Given the description of an element on the screen output the (x, y) to click on. 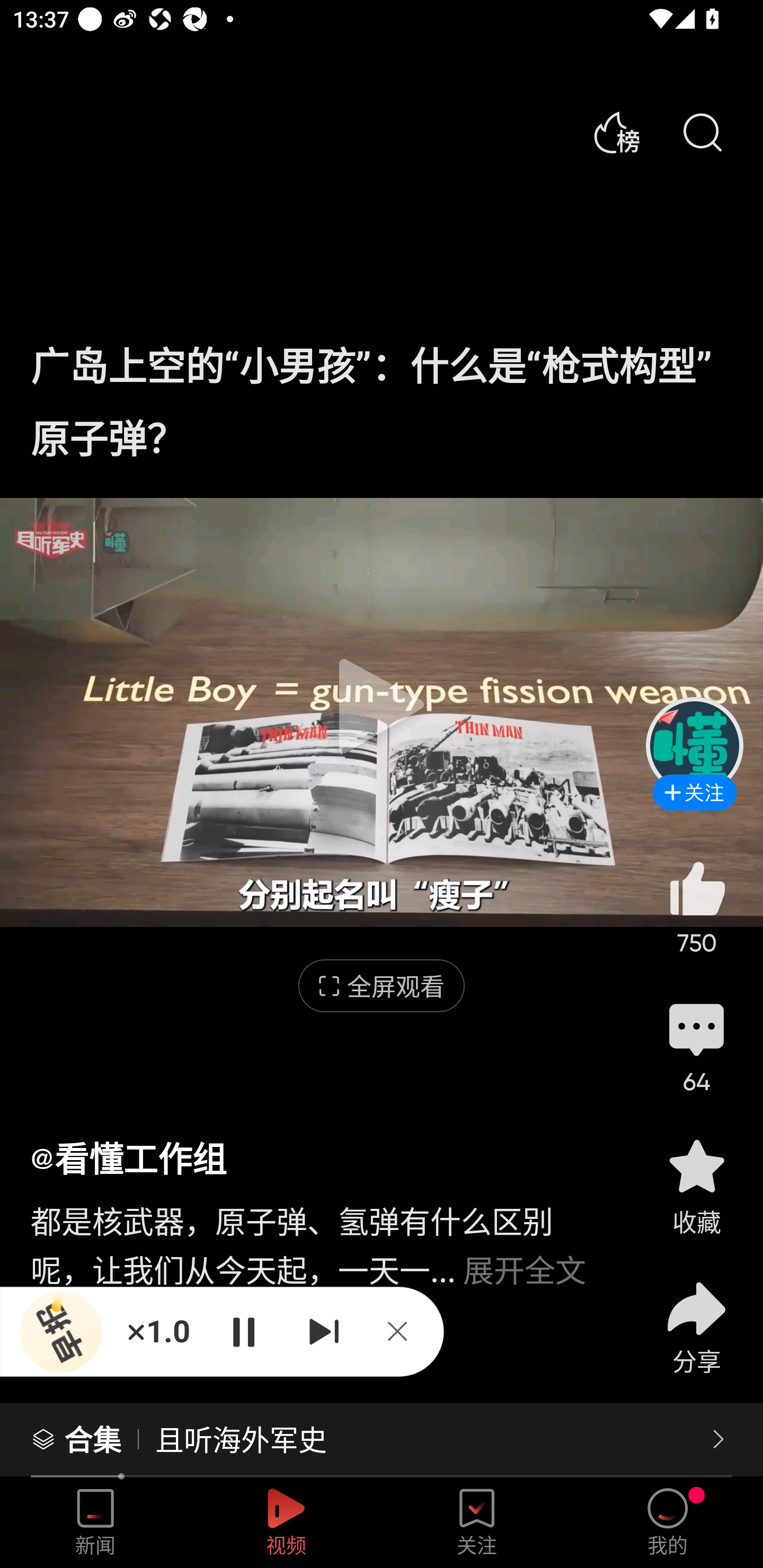
 热榜 (616, 133)
 搜索 (701, 133)
赞 750 (696, 906)
全屏观看 (381, 985)
评论  64 (696, 1045)
收藏 (696, 1184)
看懂工作组 (128, 1157)
都是核武器，原子弹、氢弹有什么区别呢，让我们从今天起，一天一... 展开全文 (321, 1235)
分享  分享 (696, 1315)
播放器 (60, 1331)
 播放 (242, 1330)
 下一个 (323, 1330)
 关闭 (404, 1330)
 1.0 (157, 1330)
合集 且听海外军史  (381, 1440)
